Given the description of an element on the screen output the (x, y) to click on. 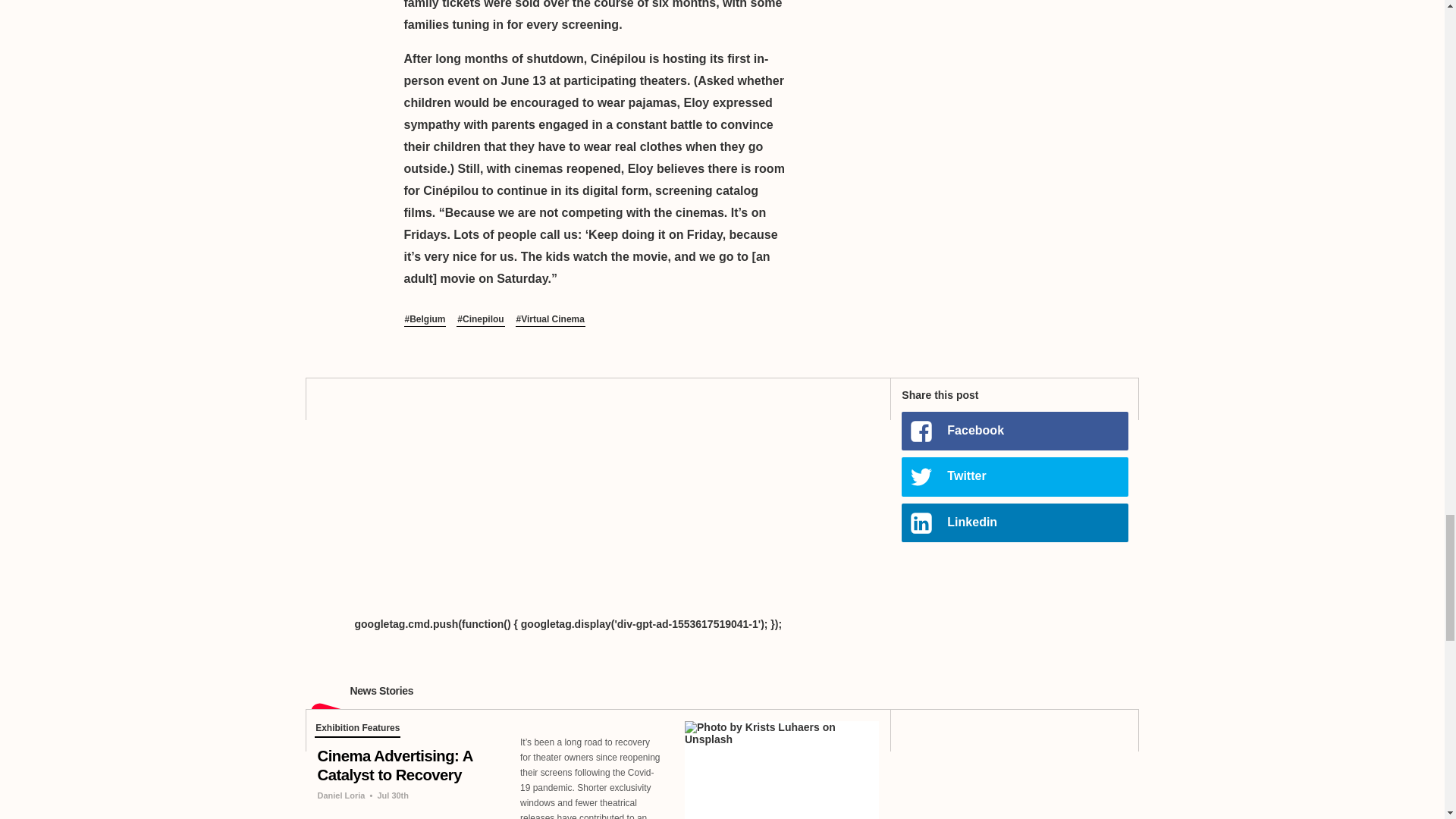
Virtual Cinema (550, 319)
Facebook (1013, 430)
Belgium (424, 319)
Exhibition Features (357, 729)
Linkedin (1013, 522)
Twitter (1013, 476)
Cinepilou (480, 319)
